Given the description of an element on the screen output the (x, y) to click on. 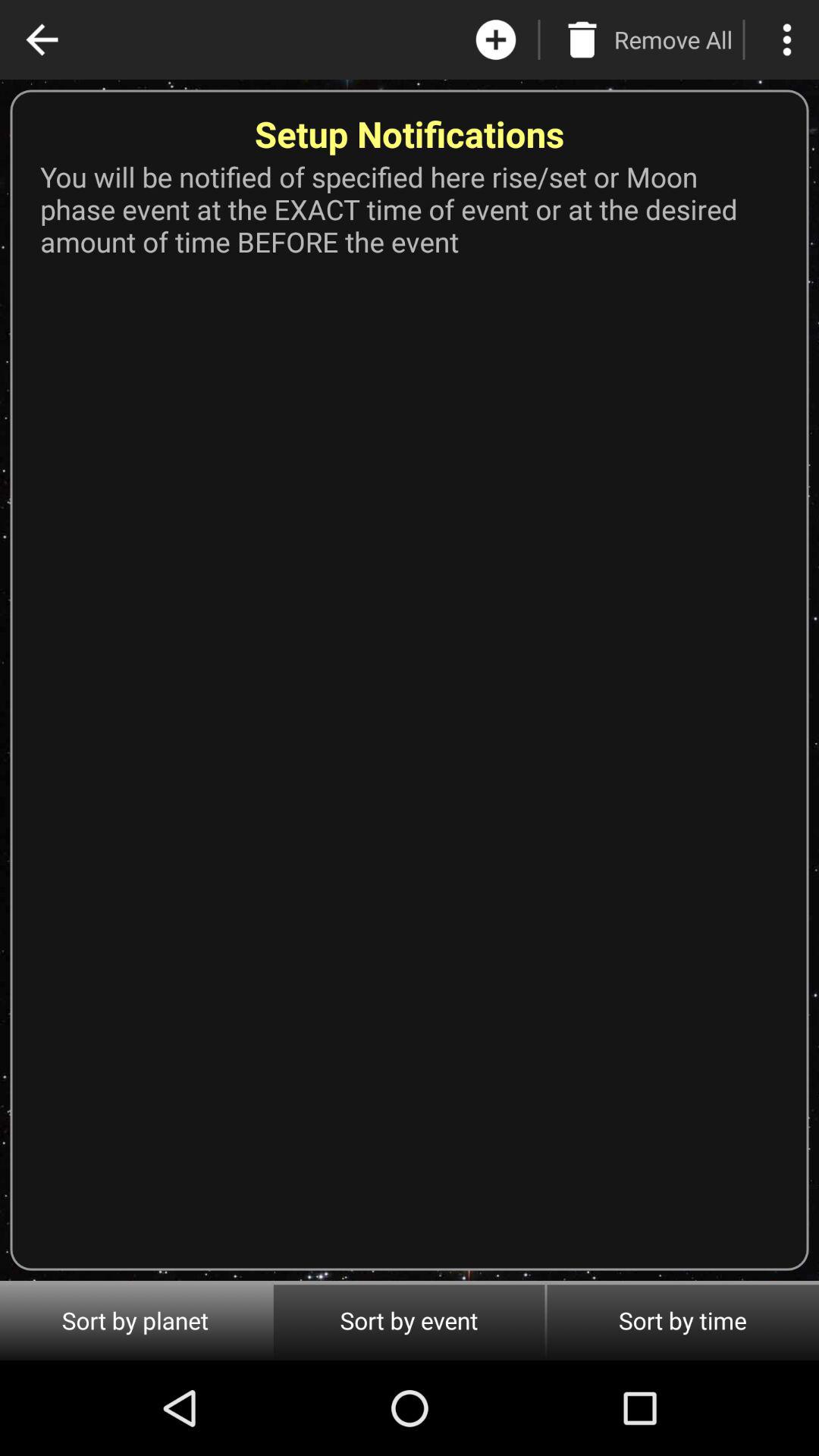
menu (787, 39)
